Given the description of an element on the screen output the (x, y) to click on. 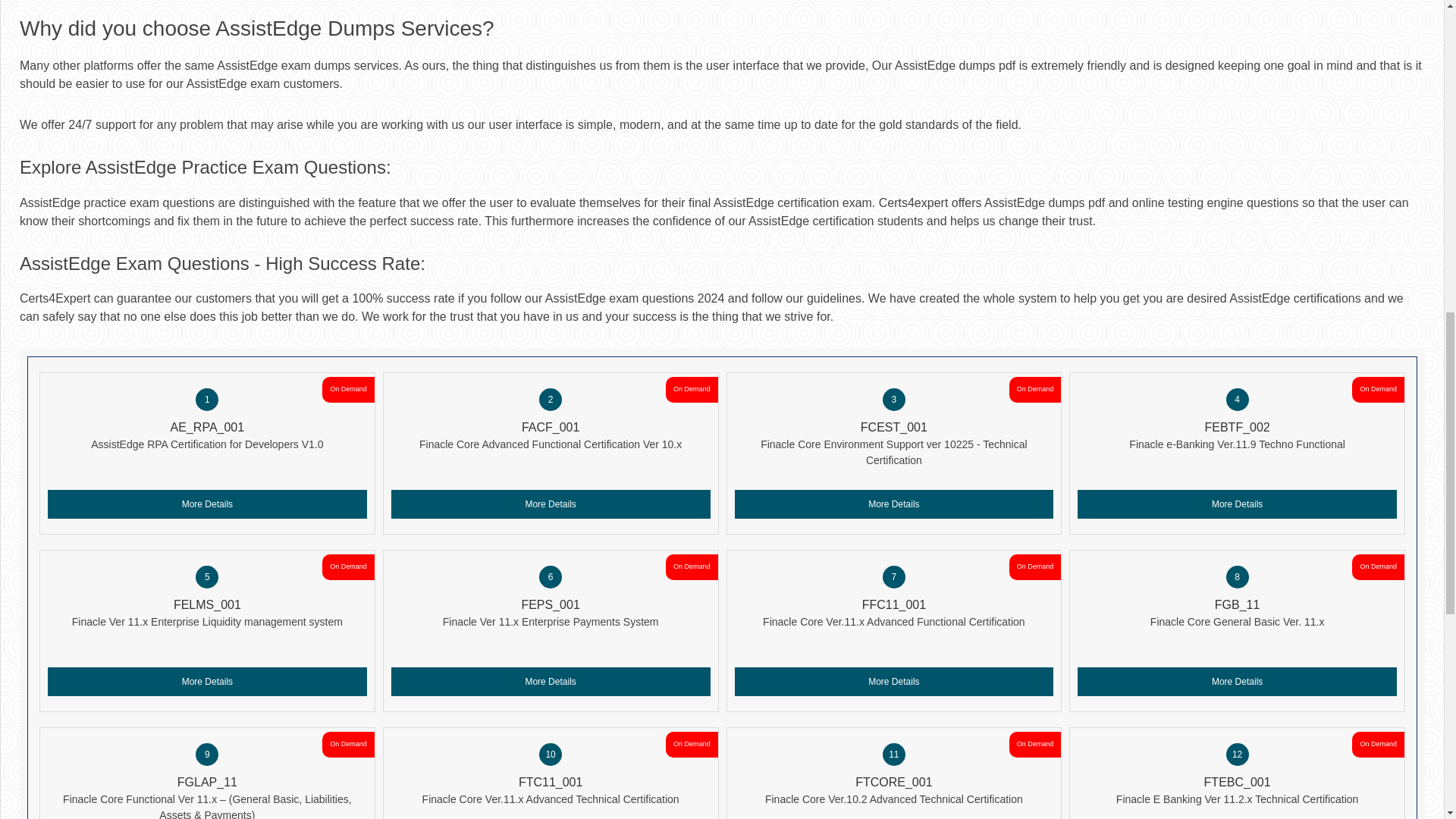
More Details (1236, 681)
More Details (1236, 503)
More Details (892, 503)
More Details (550, 503)
More Details (892, 681)
More Details (550, 681)
More Details (207, 681)
More Details (207, 503)
